Given the description of an element on the screen output the (x, y) to click on. 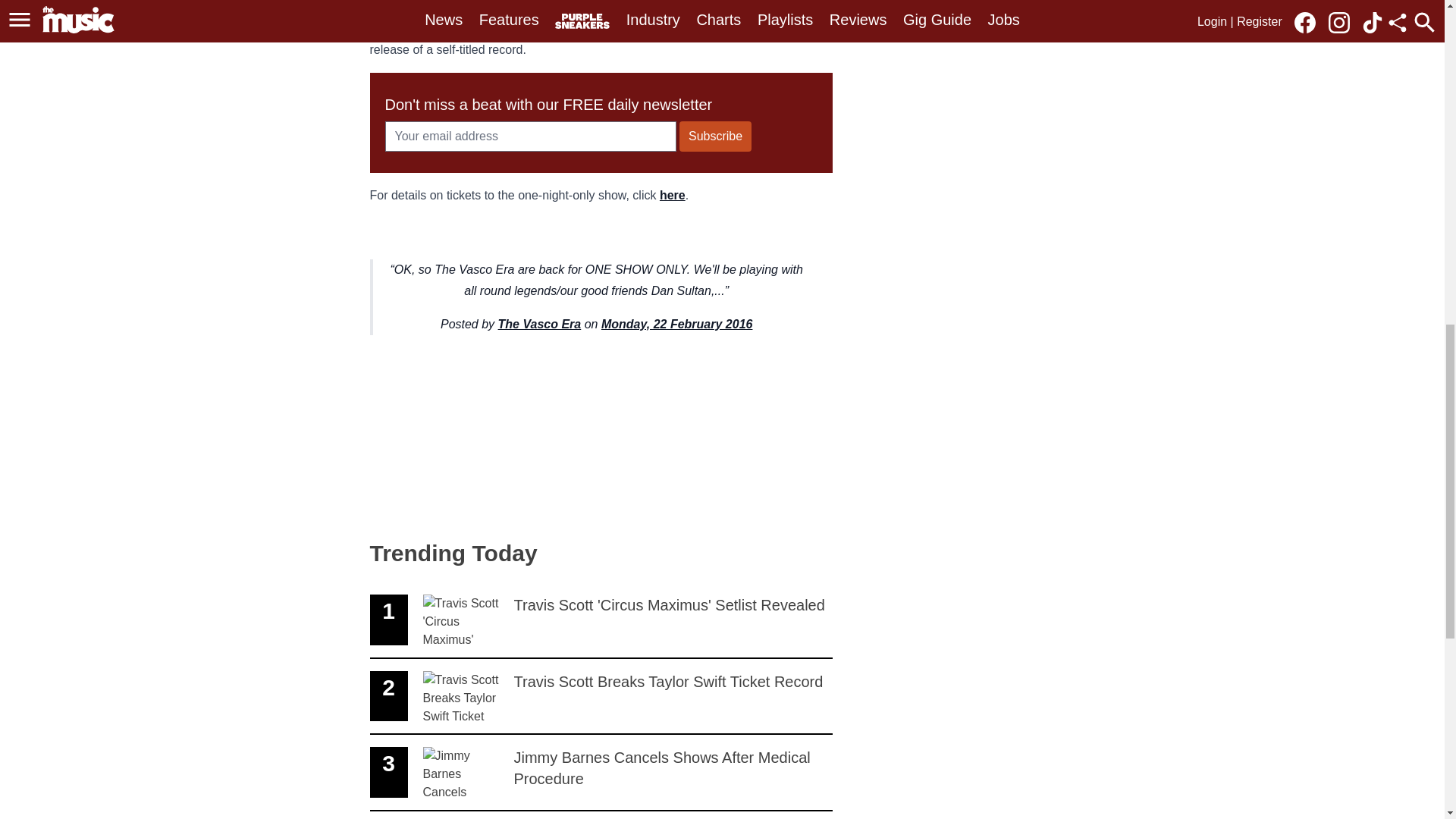
The Vasco Era (600, 697)
here (538, 323)
Monday, 22 February 2016 (672, 195)
Subscribe (676, 323)
